Given the description of an element on the screen output the (x, y) to click on. 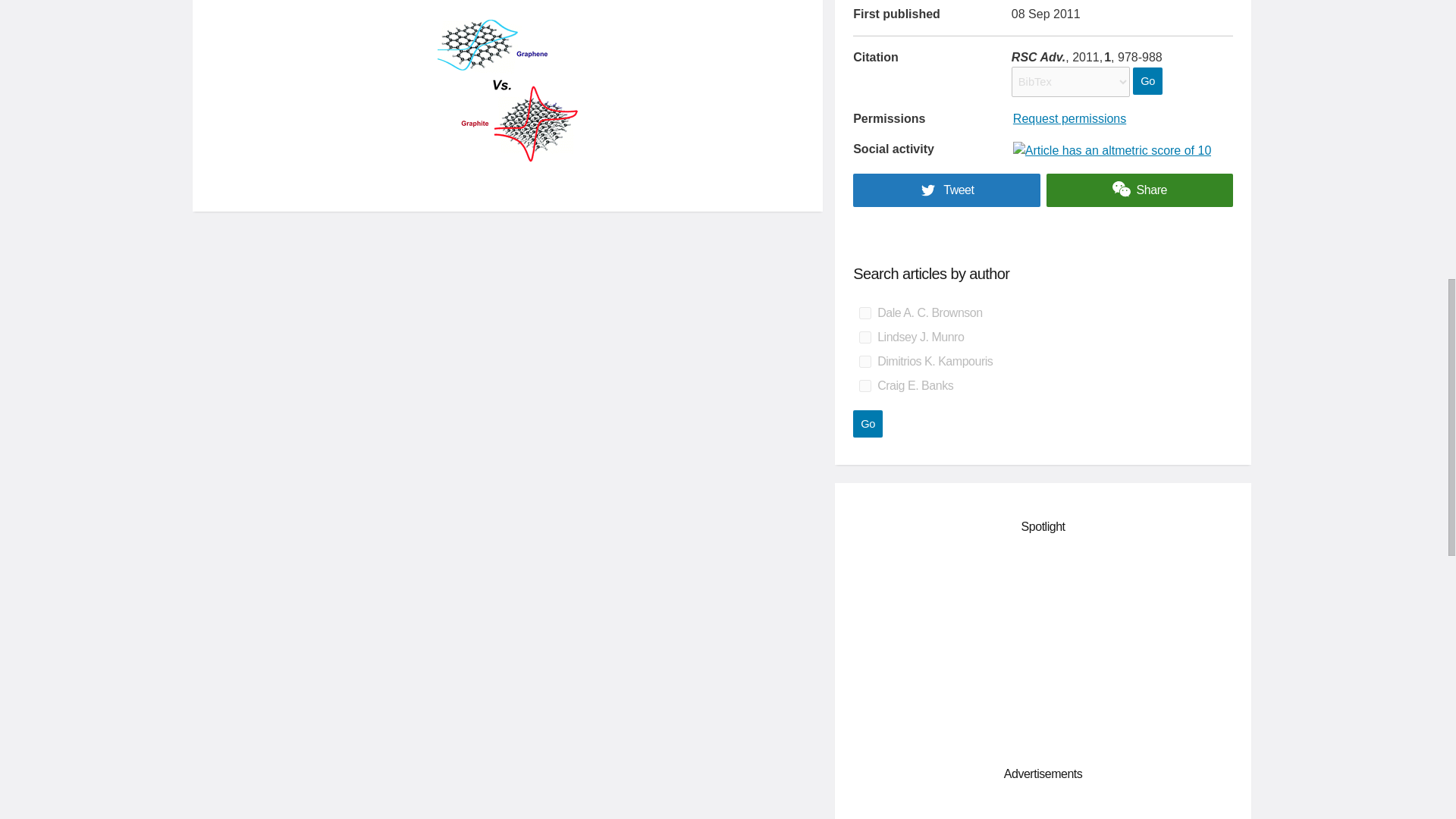
on (864, 361)
Go (867, 423)
on (864, 337)
Go (1146, 81)
3rd party ad content (1043, 809)
Go (867, 423)
Go (1146, 81)
3rd party ad content (1043, 647)
on (864, 386)
Request permissions (1068, 118)
